Given the description of an element on the screen output the (x, y) to click on. 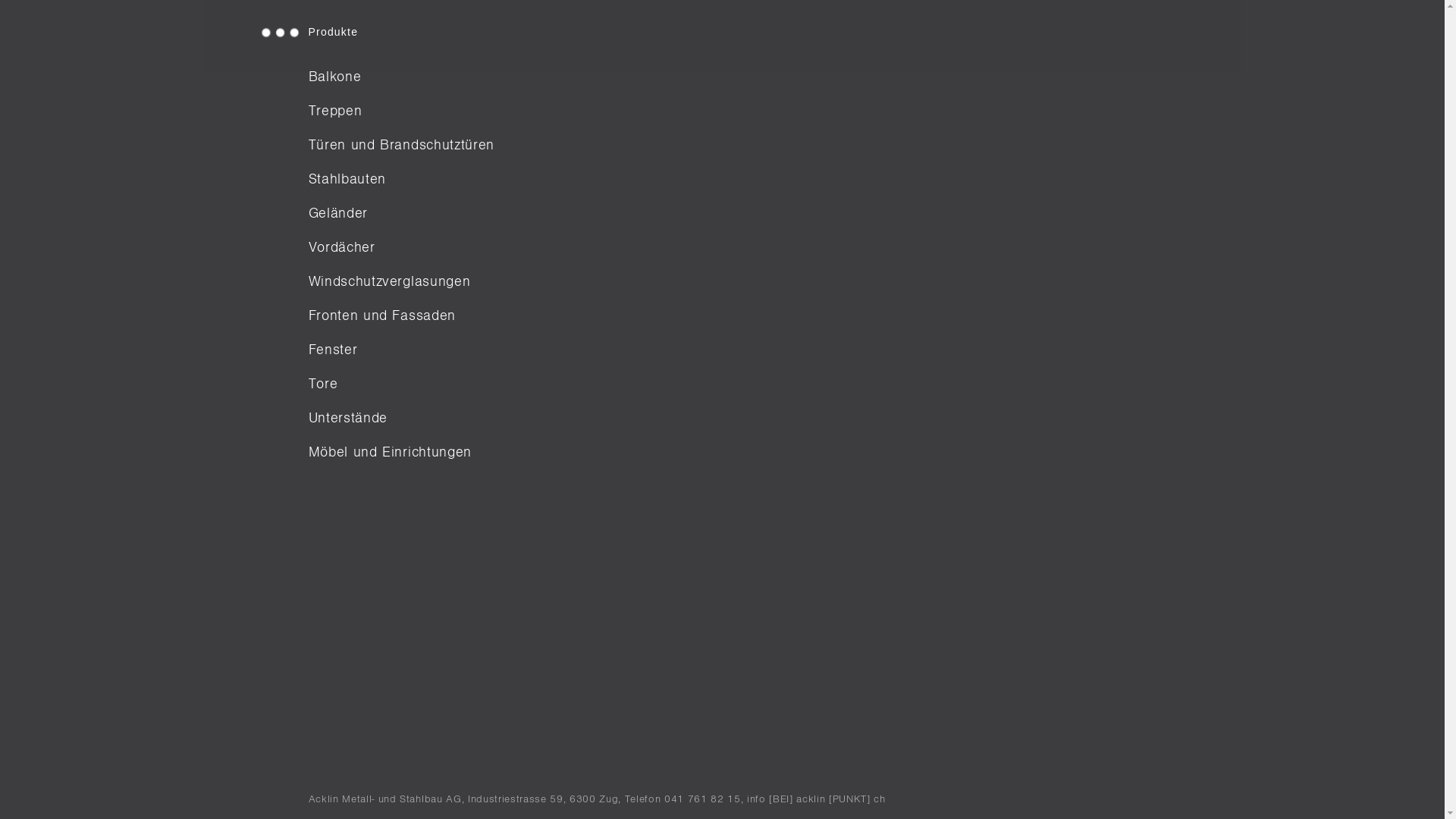
Stahlbauten Element type: text (400, 179)
Fenster Element type: text (400, 349)
Windschutzverglasungen Element type: text (400, 281)
Balkone Element type: text (400, 76)
Treppen Element type: text (400, 111)
Tore Element type: text (400, 384)
Fronten und Fassaden Element type: text (400, 315)
